Given the description of an element on the screen output the (x, y) to click on. 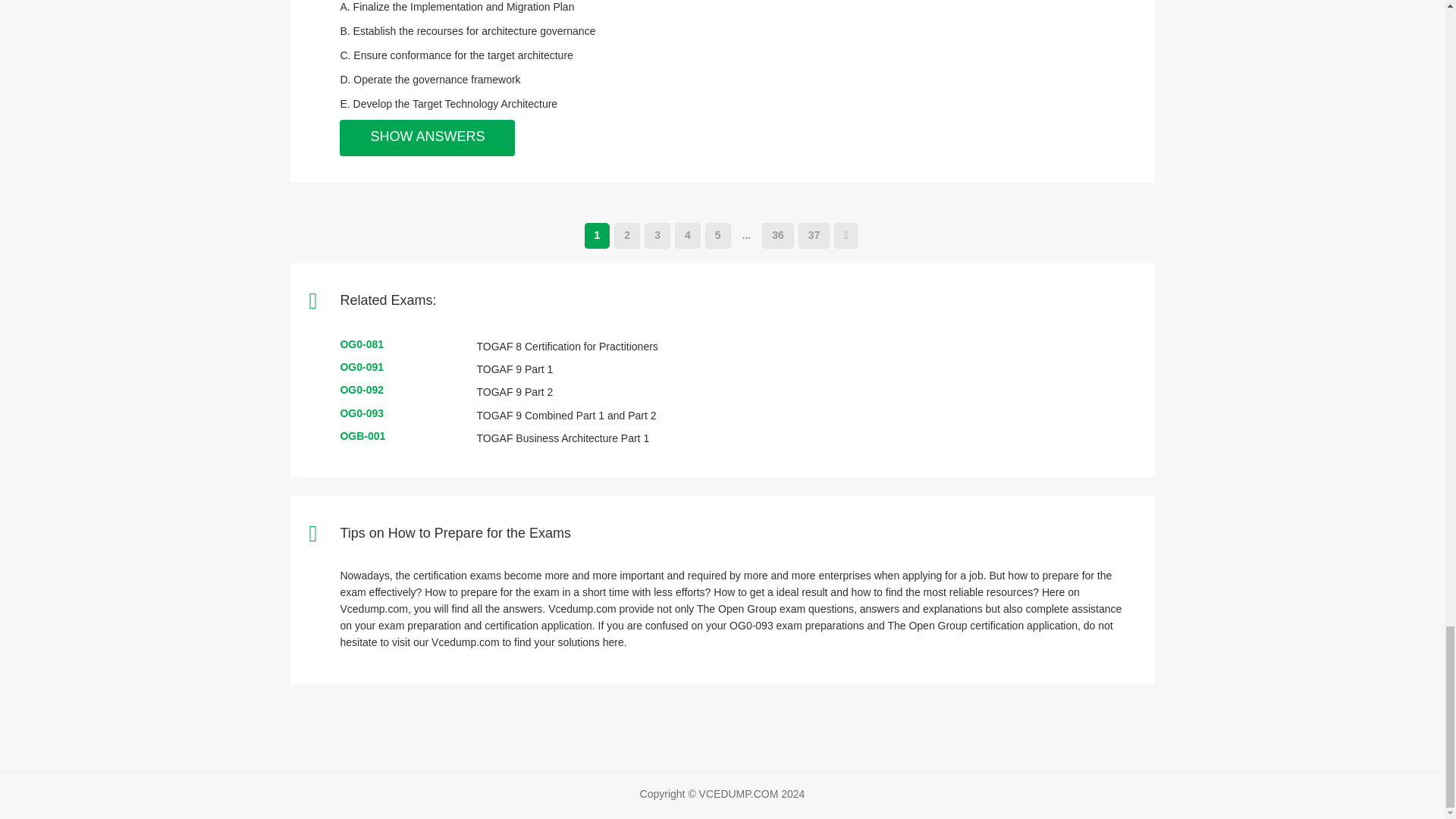
4 (687, 235)
3 (657, 235)
OG0-092 (361, 389)
OG0-093 (361, 413)
... (746, 235)
37 (813, 235)
TOGAF 9 Combined Part 1 and Part 2 (566, 415)
1 (597, 235)
36 (777, 235)
2 (627, 235)
VCEDUMP.COM (738, 793)
5 (717, 235)
TOGAF 9 Part 2 (514, 391)
OGB-001 (362, 435)
TOGAF 9 Part 1 (514, 369)
